Given the description of an element on the screen output the (x, y) to click on. 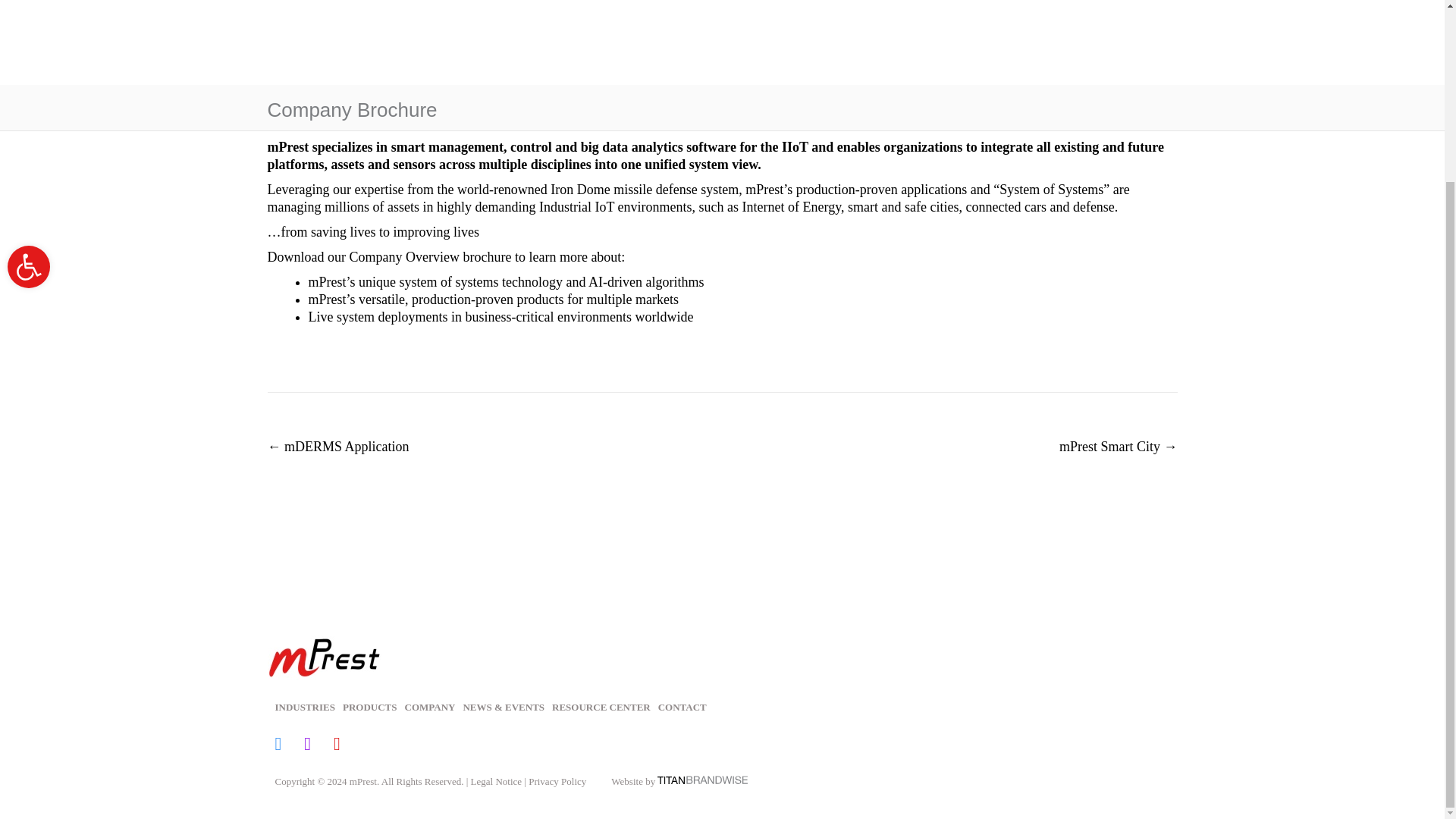
Send us an Email (347, 744)
Find Us on LinkedIn (318, 744)
PRODUCTS (373, 706)
Find Us on Facebook (28, 43)
INDUSTRIES (289, 744)
Accessibility Tools (308, 706)
Accessibility Tools (28, 43)
